Given the description of an element on the screen output the (x, y) to click on. 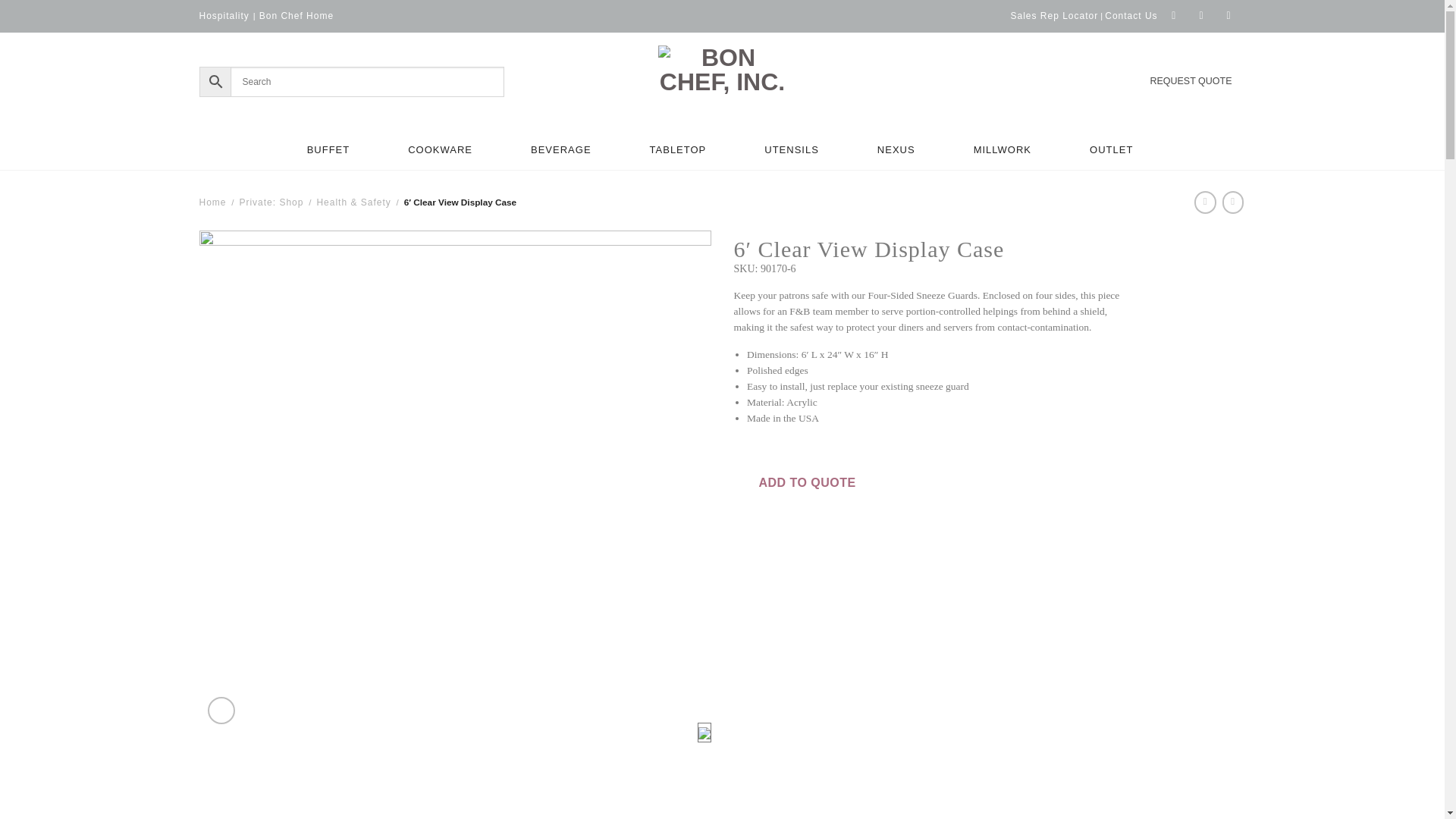
Hospitality (223, 15)
Zoom (221, 709)
Sales Rep Locator (1053, 15)
Bon Chef Home (296, 15)
Follow on LinkedIn (1230, 15)
Follow on Facebook (1177, 15)
Follow on Instagram (1203, 15)
REQUEST QUOTE (1190, 81)
Contact Us (1131, 15)
Bon Chef, Inc. - The Art of Presentation (722, 81)
BUFFET (331, 150)
